Given the description of an element on the screen output the (x, y) to click on. 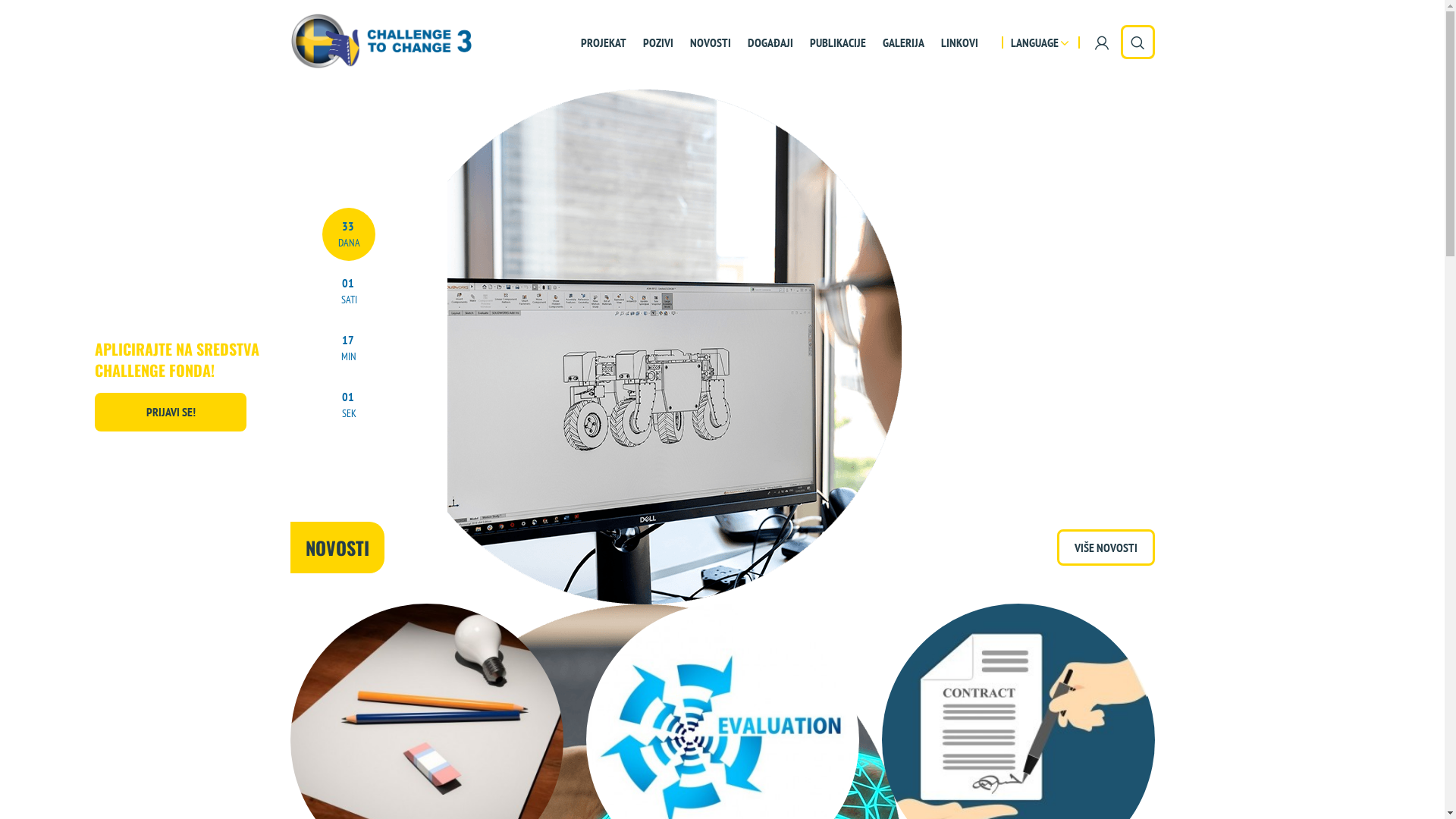
LANGUAGE Element type: text (1038, 41)
PUBLIKACIJE Element type: text (836, 40)
PRIJAVI SE! Element type: text (170, 411)
GALERIJA Element type: text (902, 40)
PROJEKAT Element type: text (602, 40)
NOVOSTI Element type: text (709, 40)
LINKOVI Element type: text (959, 40)
POZIVI Element type: text (656, 40)
